Given the description of an element on the screen output the (x, y) to click on. 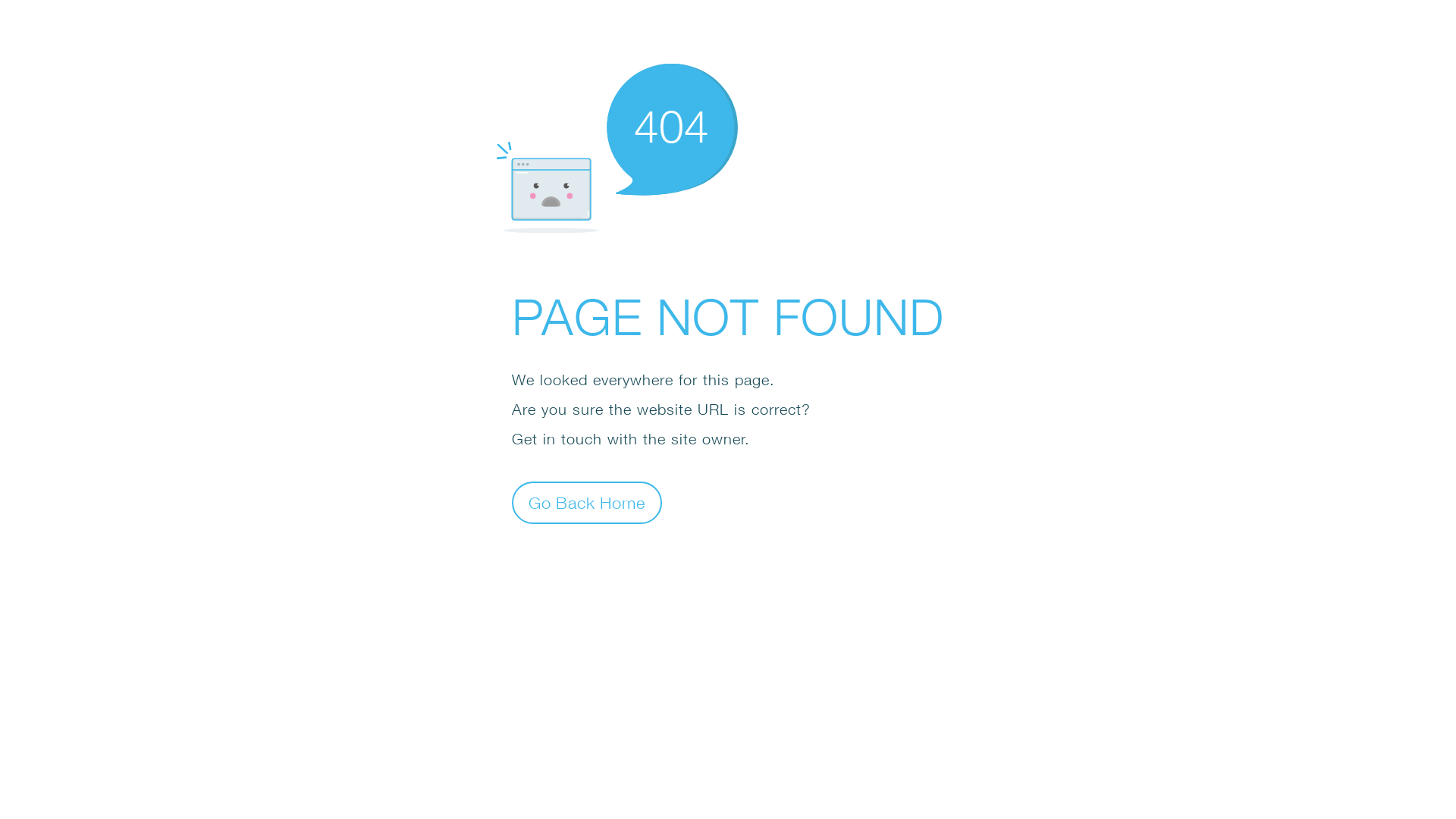
Go Back Home Element type: text (586, 502)
